Given the description of an element on the screen output the (x, y) to click on. 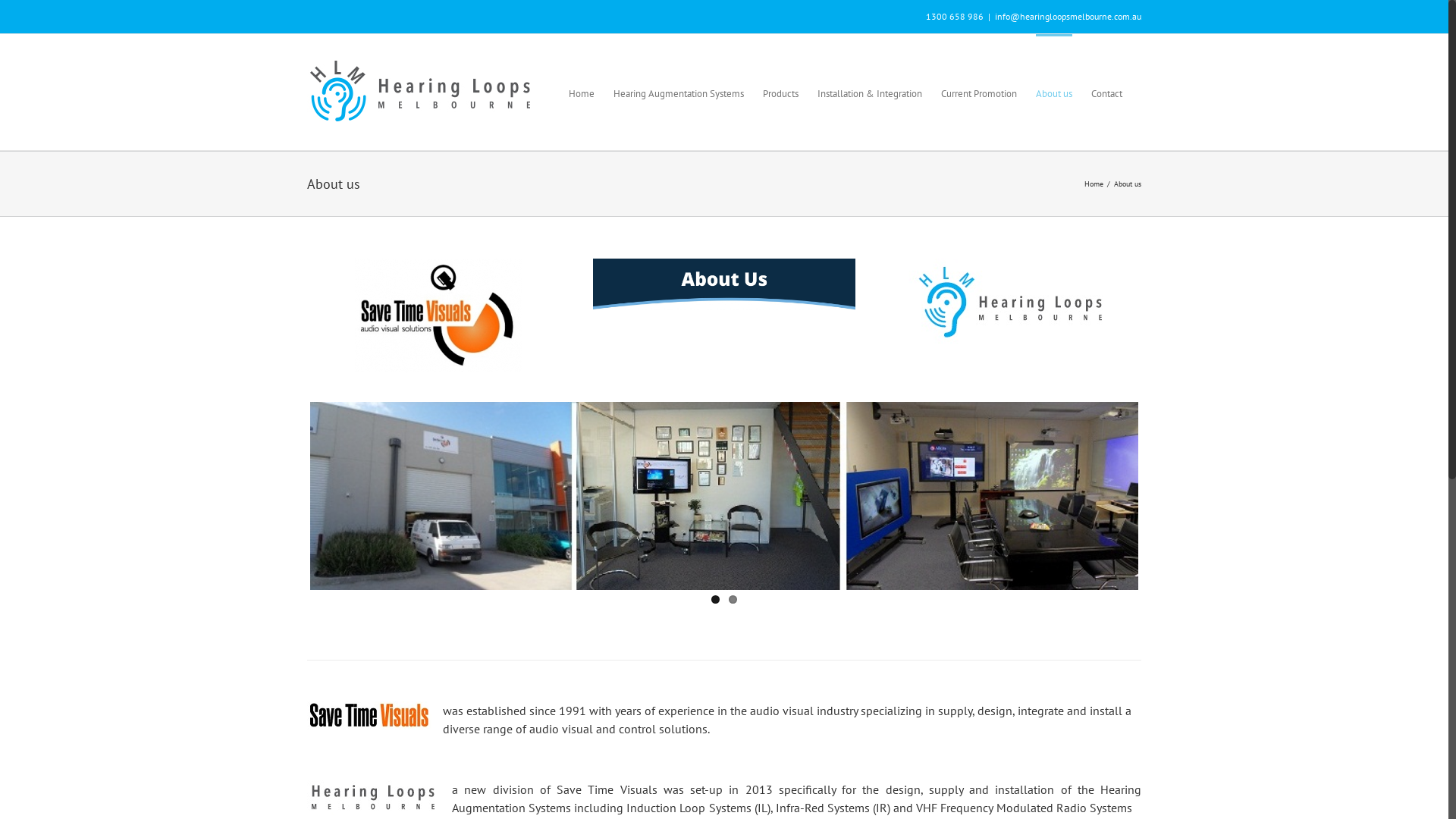
about_us image 2 Element type: hover (724, 284)
STV Element type: hover (437, 315)
Installation & Integration Element type: text (869, 92)
Contact Element type: text (1106, 92)
1 Element type: text (715, 599)
Home Element type: text (581, 92)
Products Element type: text (780, 92)
info@hearingloopsmelbourne.com.au Element type: text (1067, 15)
SAMSUNG DIGITAL CAMERA Element type: hover (724, 495)
HLM Element type: hover (1009, 307)
Home Element type: text (1093, 183)
2 Element type: text (732, 599)
Current Promotion Element type: text (978, 92)
Hearing Augmentation Systems Element type: text (678, 92)
About us Element type: text (1053, 92)
